Given the description of an element on the screen output the (x, y) to click on. 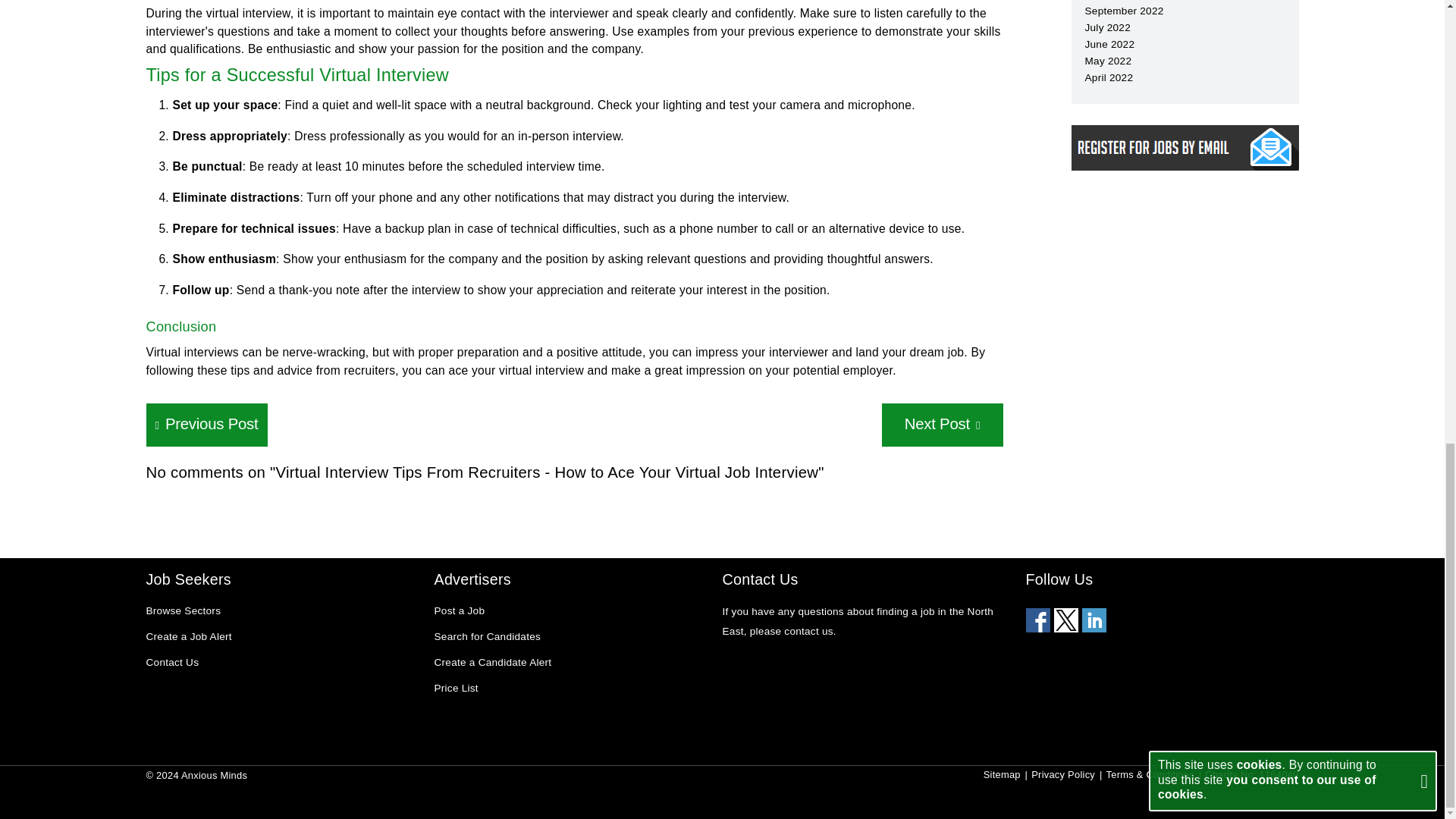
Next Post (941, 424)
Previous Post (205, 424)
